Given the description of an element on the screen output the (x, y) to click on. 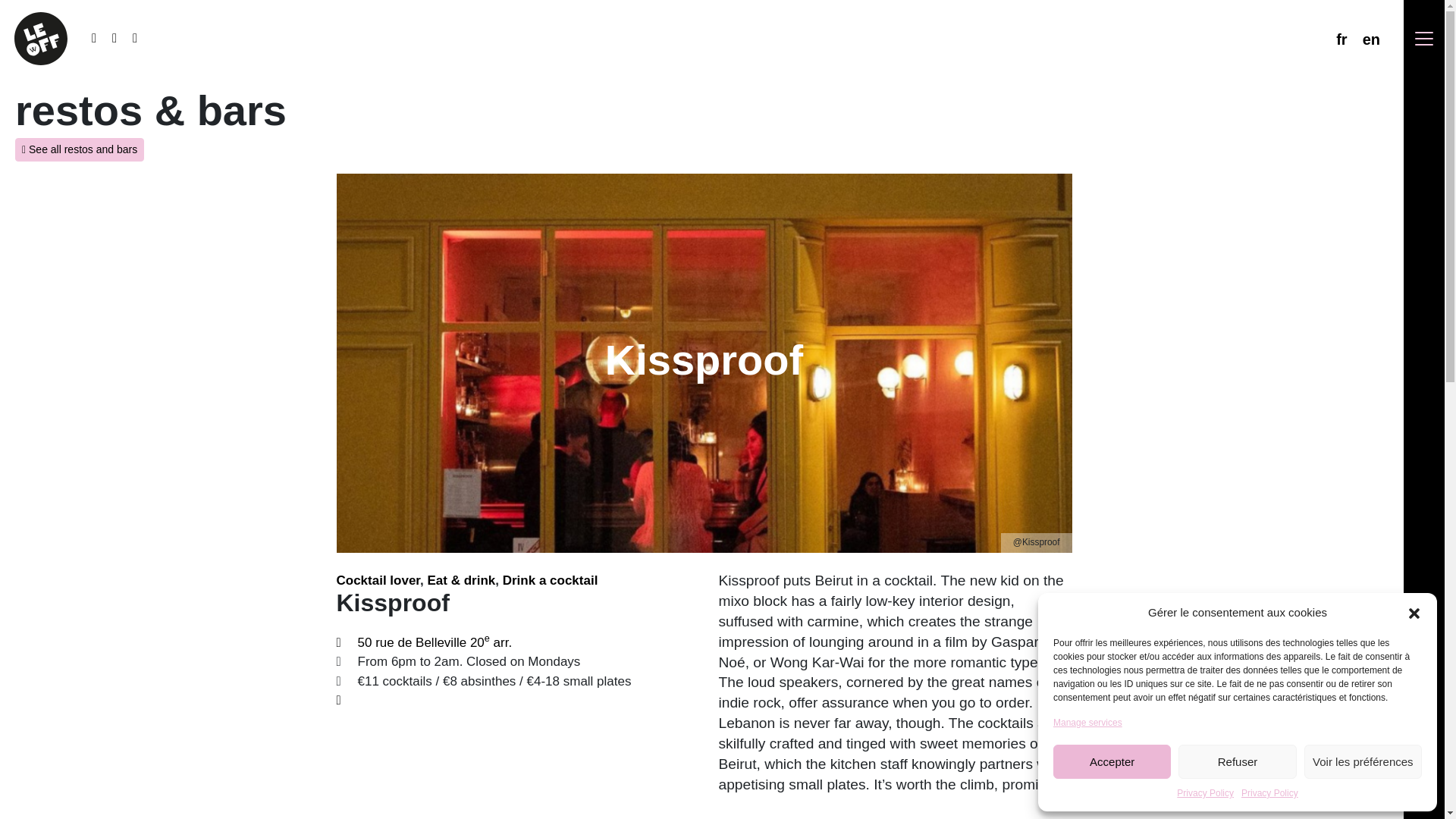
Drink a cocktail (550, 580)
Privacy Policy (1269, 793)
Refuser (1236, 761)
50 rue de Belleville 20e arr. (435, 642)
Accepter (1111, 761)
Privacy Policy (1204, 793)
Manage services (1087, 722)
Cocktail lover (378, 580)
See all restos and bars (79, 149)
en (1371, 38)
